Given the description of an element on the screen output the (x, y) to click on. 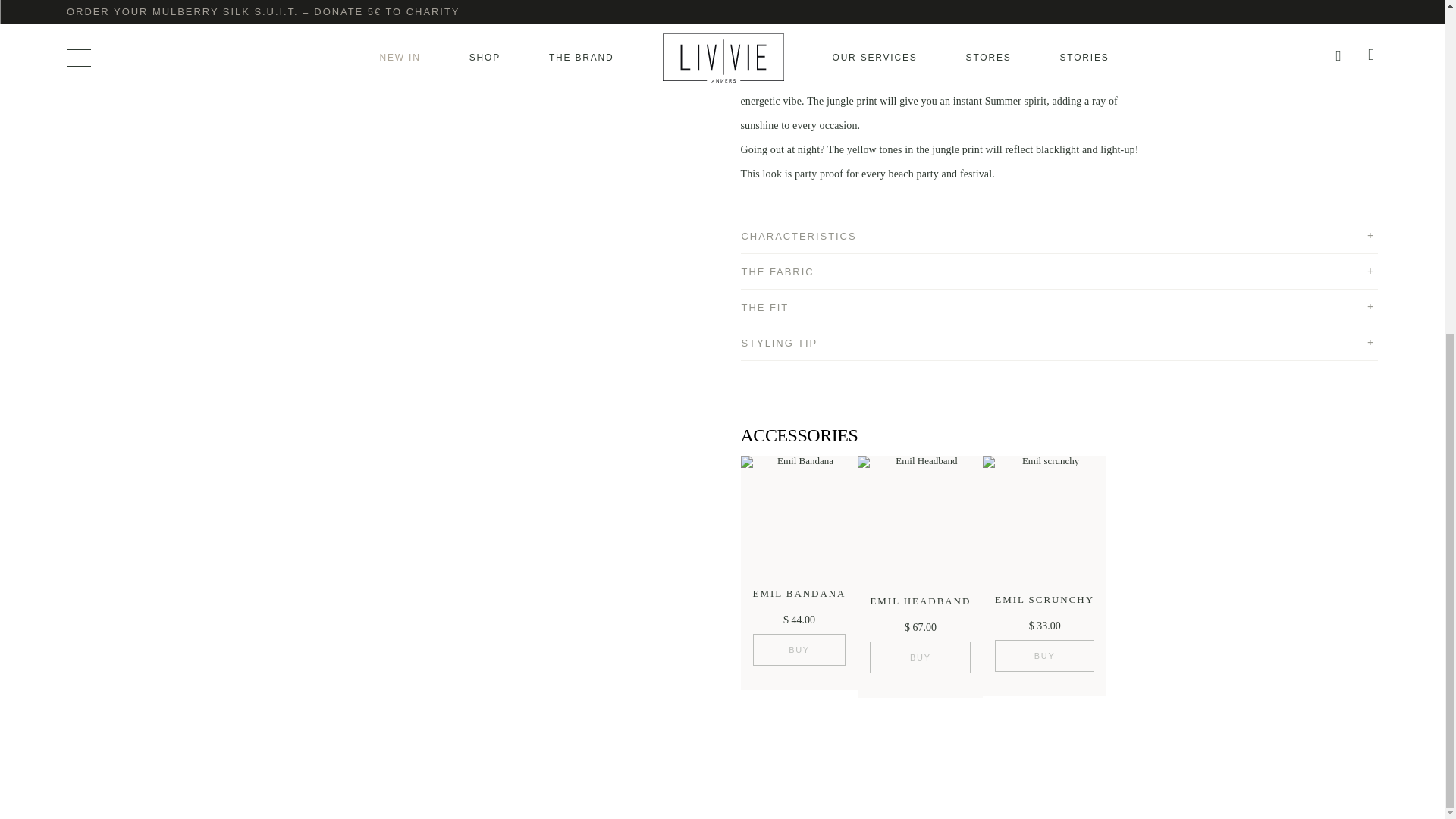
Emil scrunchy (1044, 520)
Emil Bandana (798, 517)
Emil Headband (919, 521)
